Given the description of an element on the screen output the (x, y) to click on. 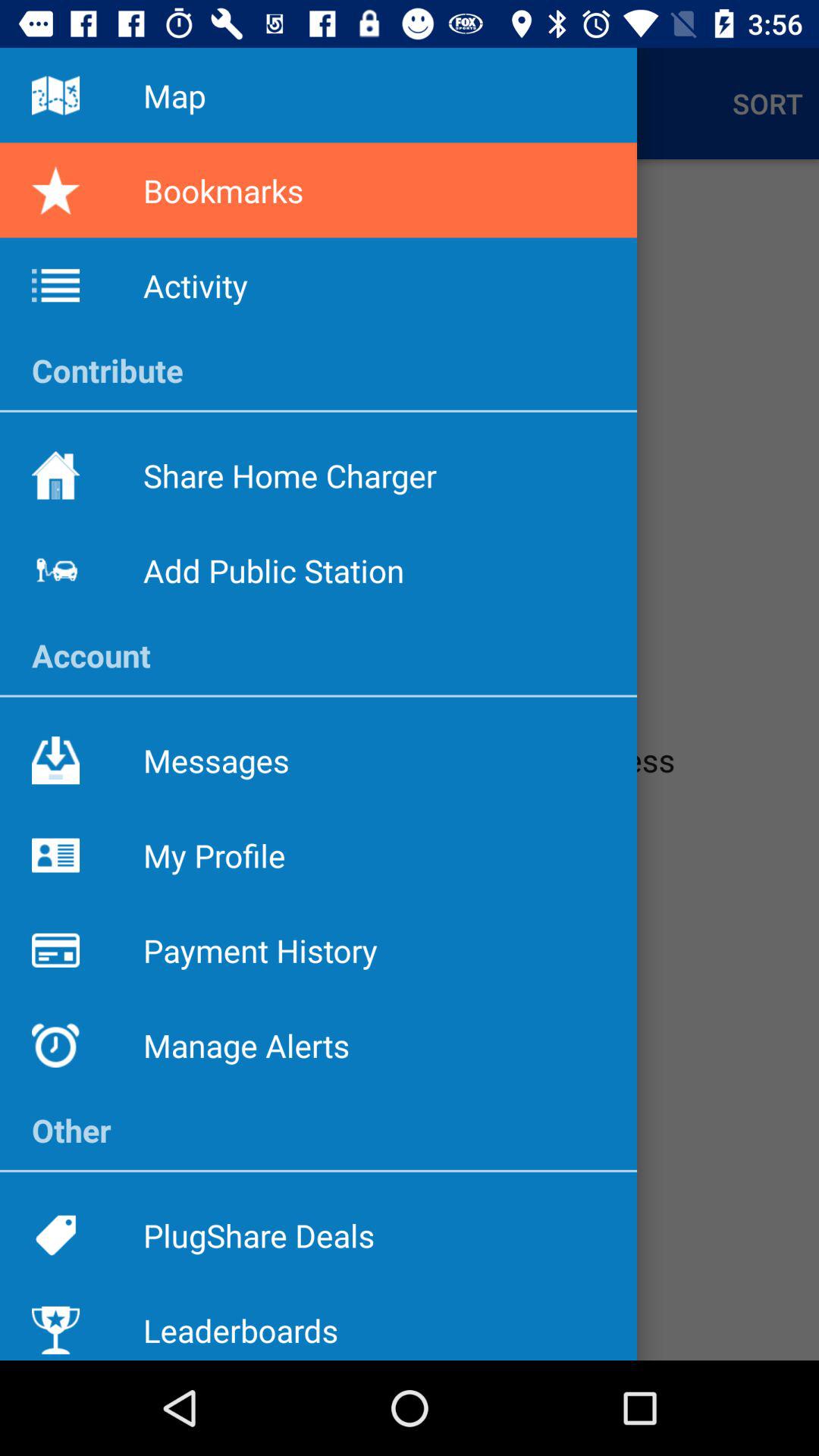
select the icon on left to the my profile button on the web page (55, 855)
